Given the description of an element on the screen output the (x, y) to click on. 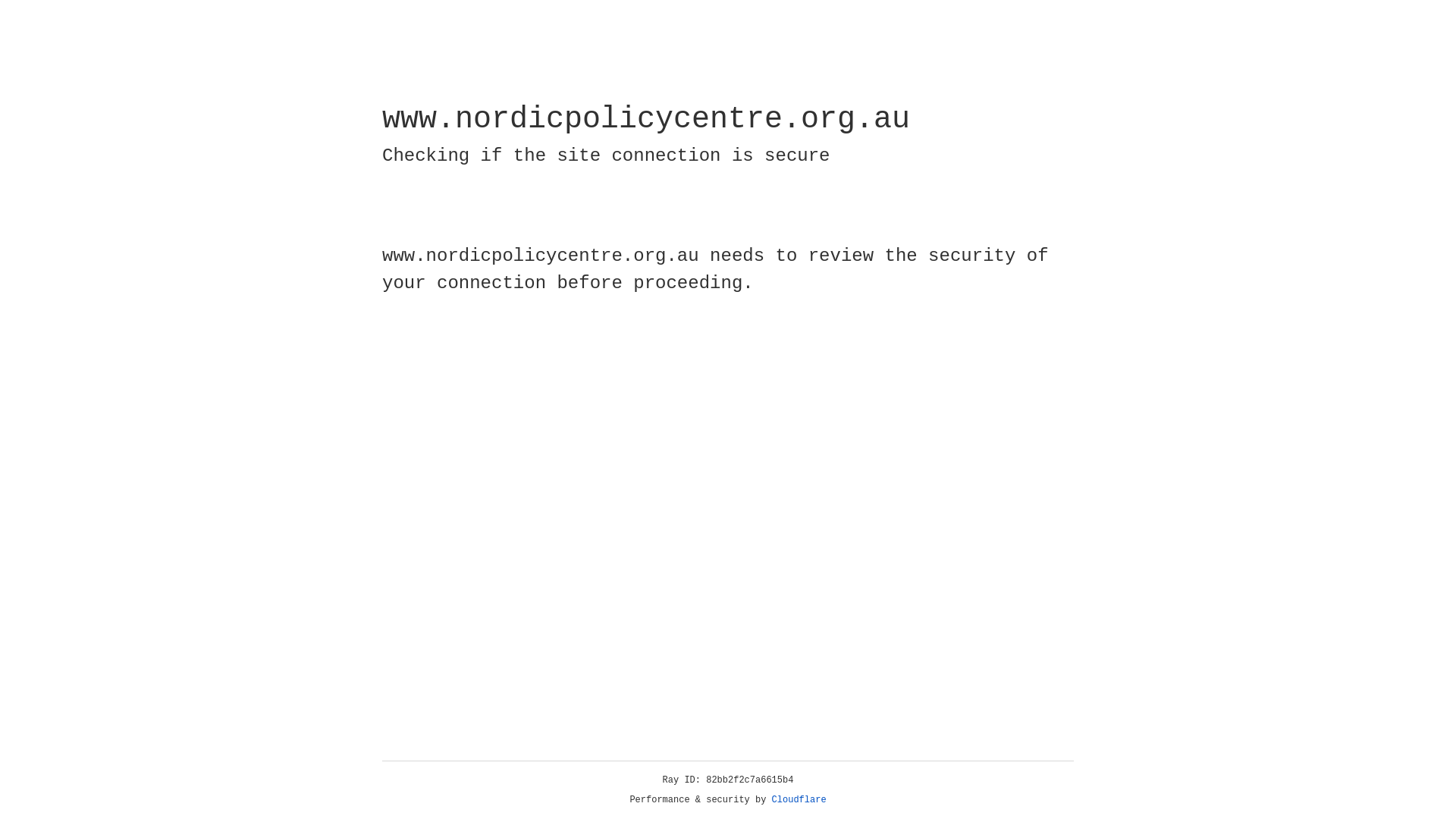
Cloudflare Element type: text (798, 799)
